Given the description of an element on the screen output the (x, y) to click on. 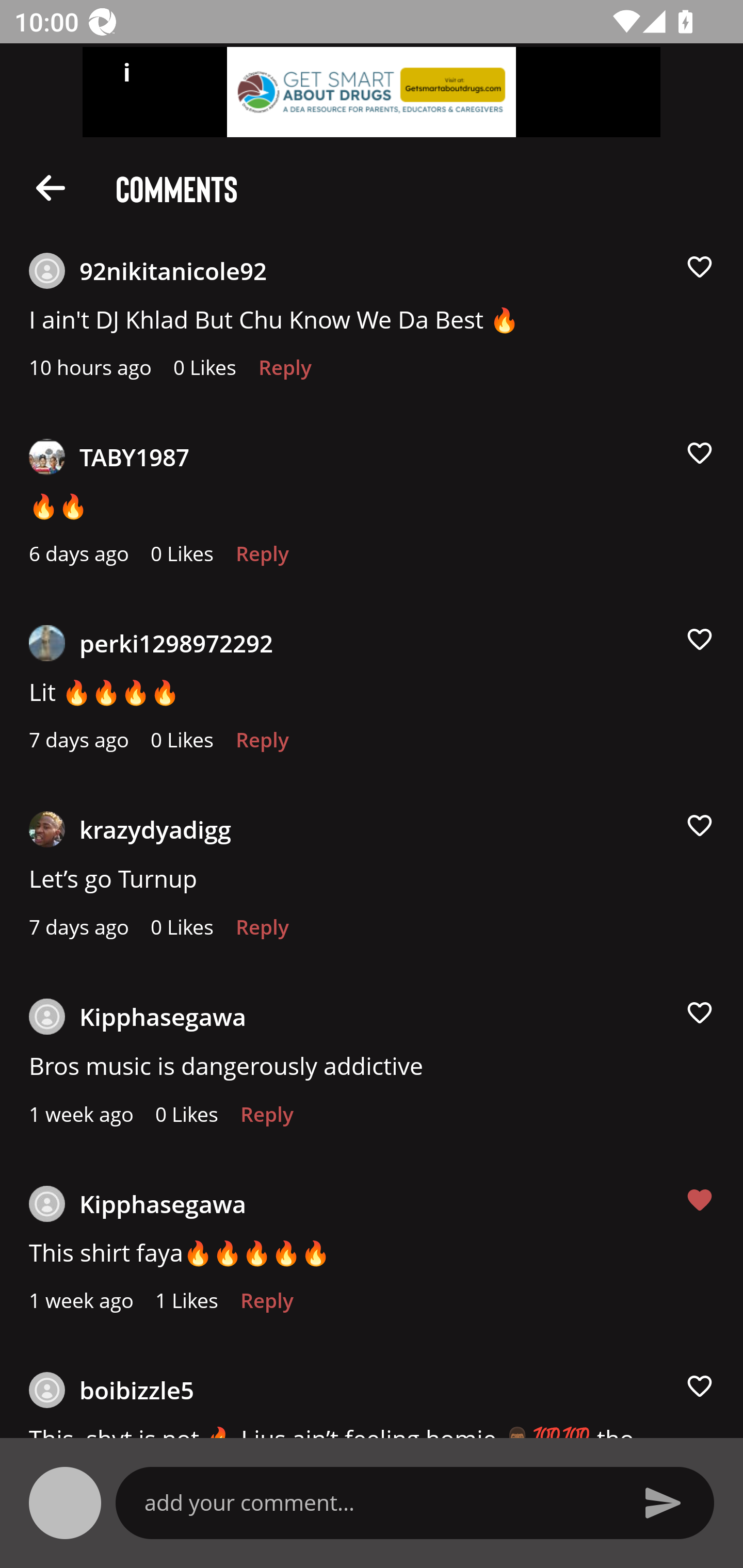
Description (50, 187)
Reply (285, 372)
Reply (261, 558)
Reply (261, 744)
Reply (261, 932)
Reply (266, 1119)
Reply (266, 1305)
add your comment… (378, 1502)
